Given the description of an element on the screen output the (x, y) to click on. 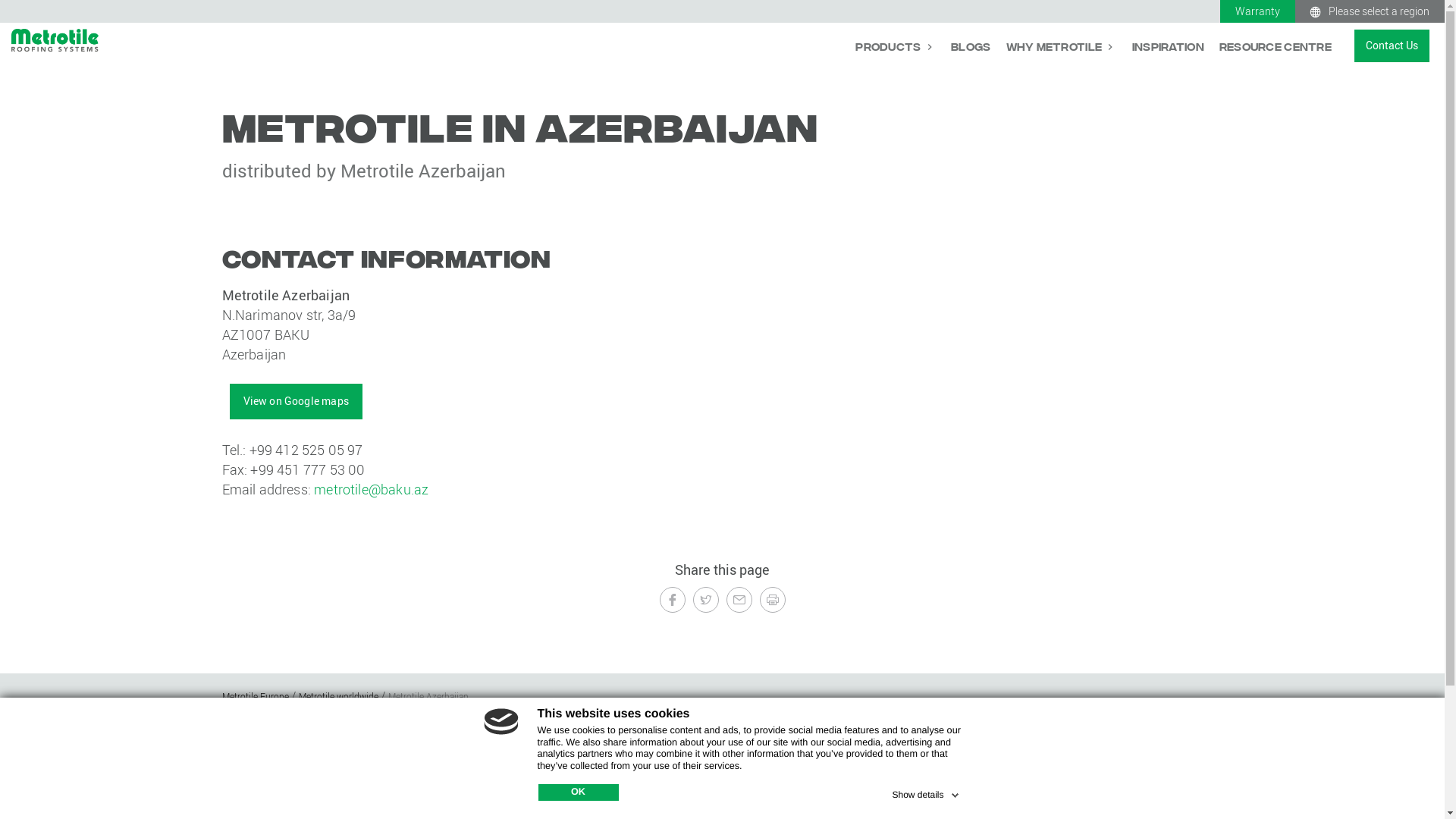
Send to a Friend Element type: hover (739, 599)
metrotile@baku.az Element type: text (370, 489)
Why Metrotile Element type: text (1060, 45)
Print this page Element type: hover (772, 599)
Products Element type: text (895, 45)
Please select a region Element type: text (1369, 11)
Inspiration Element type: text (1167, 45)
Blogs Element type: text (970, 45)
Show details Element type: text (926, 792)
View on Google maps Element type: text (295, 400)
OK Element type: text (578, 792)
Metrotile Azerbaijan Element type: text (428, 696)
Share on Facebook Element type: hover (672, 599)
Metrotile worldwide Element type: text (339, 696)
Resource Centre Element type: text (1275, 45)
Contact Us Element type: text (1391, 45)
Warranty Element type: text (1257, 11)
Share on Twitter Element type: hover (705, 599)
Contact Us Element type: text (1081, 773)
Metrotile Europe Element type: text (255, 696)
